Given the description of an element on the screen output the (x, y) to click on. 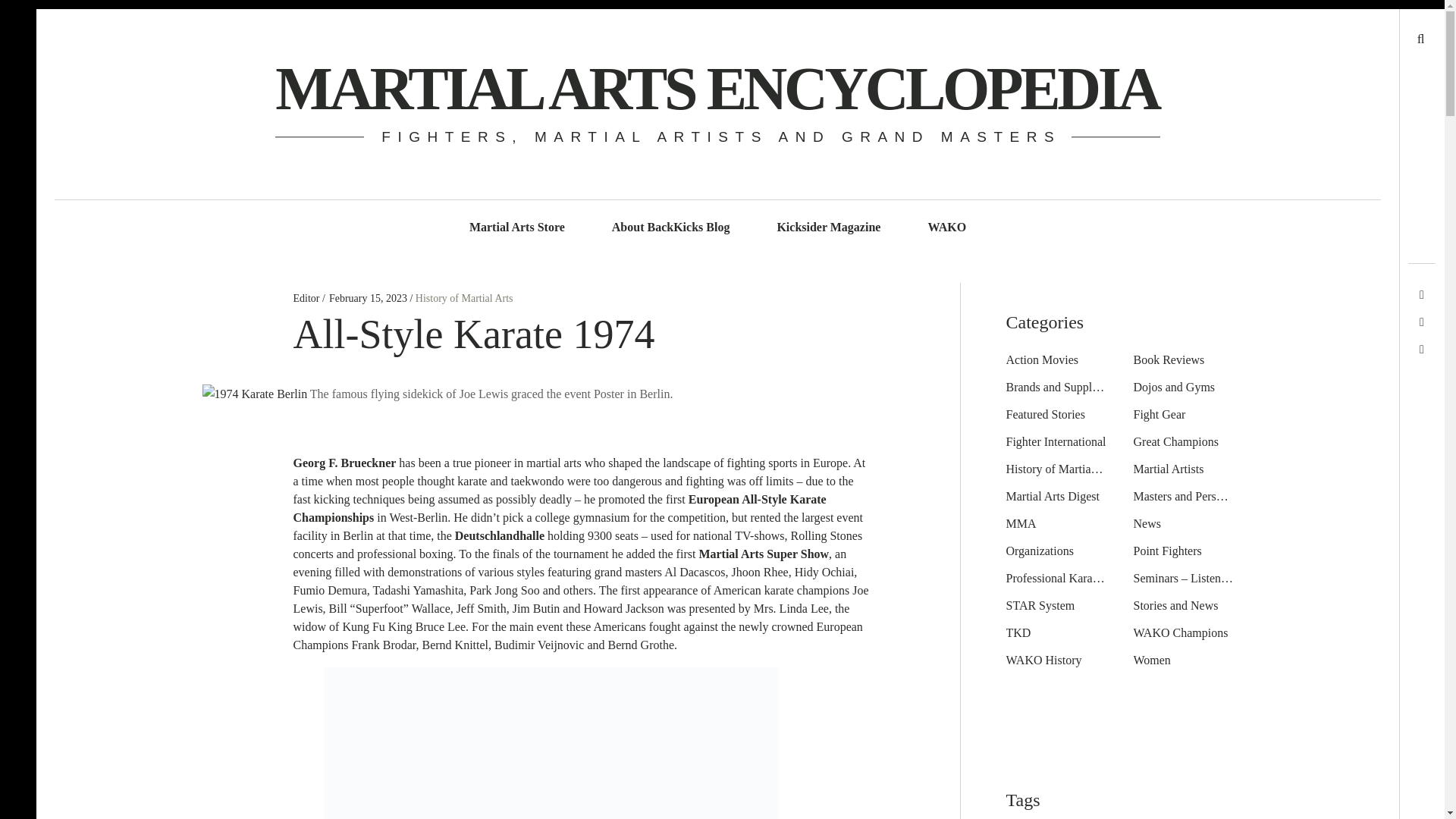
Great Champions (1174, 440)
About BackKicks Blog (671, 227)
Action Movies (1042, 359)
Book Reviews (1168, 359)
Fighter International (1055, 440)
Editor (306, 297)
Martial Artists (1168, 468)
History of Martial Arts (463, 297)
Dojos and Gyms (1173, 386)
February 15, 2023 (368, 297)
Kicksider Magazine (828, 227)
Brands and Suppliers (1057, 386)
History of Martial Arts (1061, 468)
Martial Arts Store (516, 227)
Fight Gear (1158, 413)
